Given the description of an element on the screen output the (x, y) to click on. 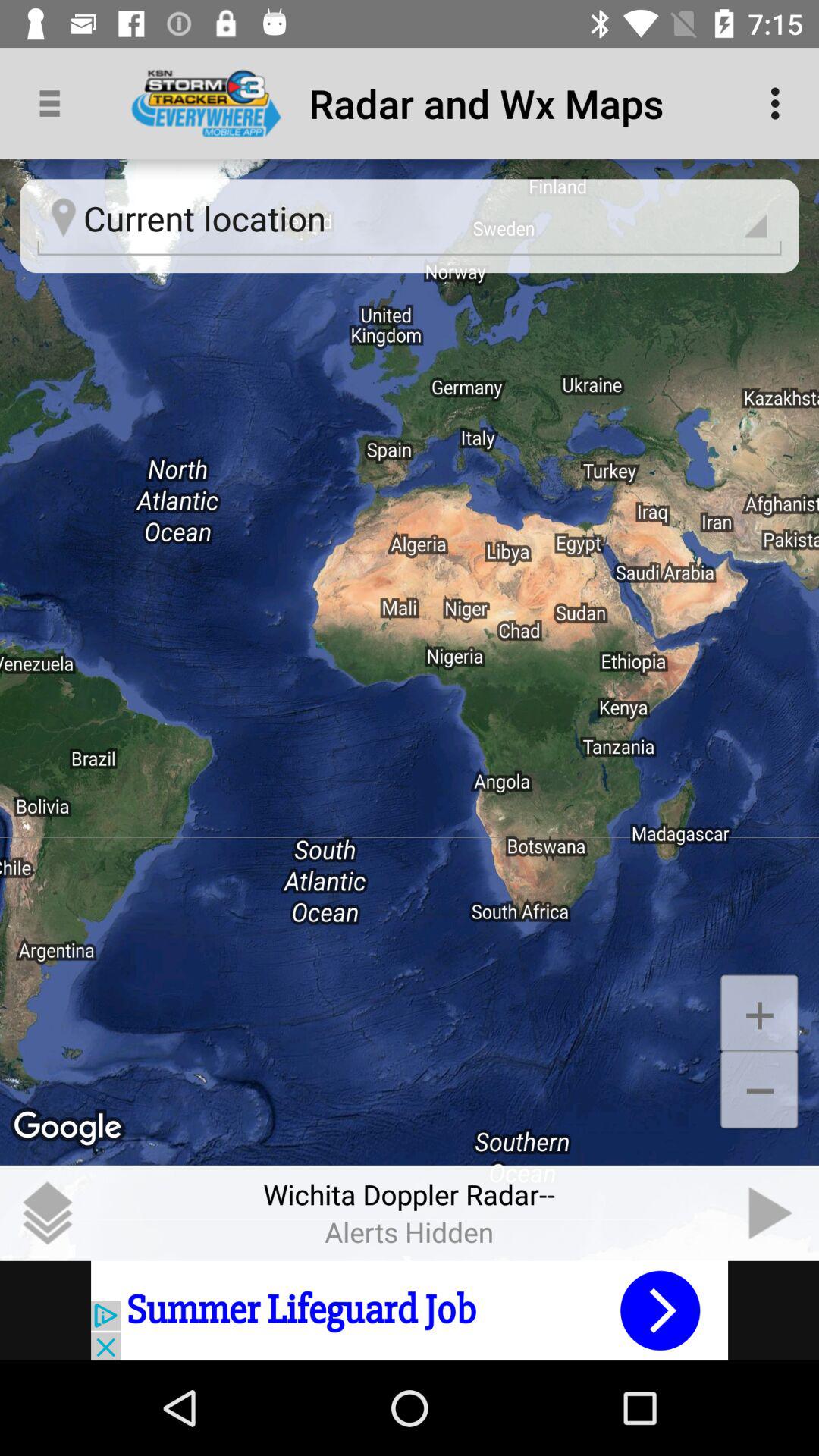
next button (771, 1212)
